Given the description of an element on the screen output the (x, y) to click on. 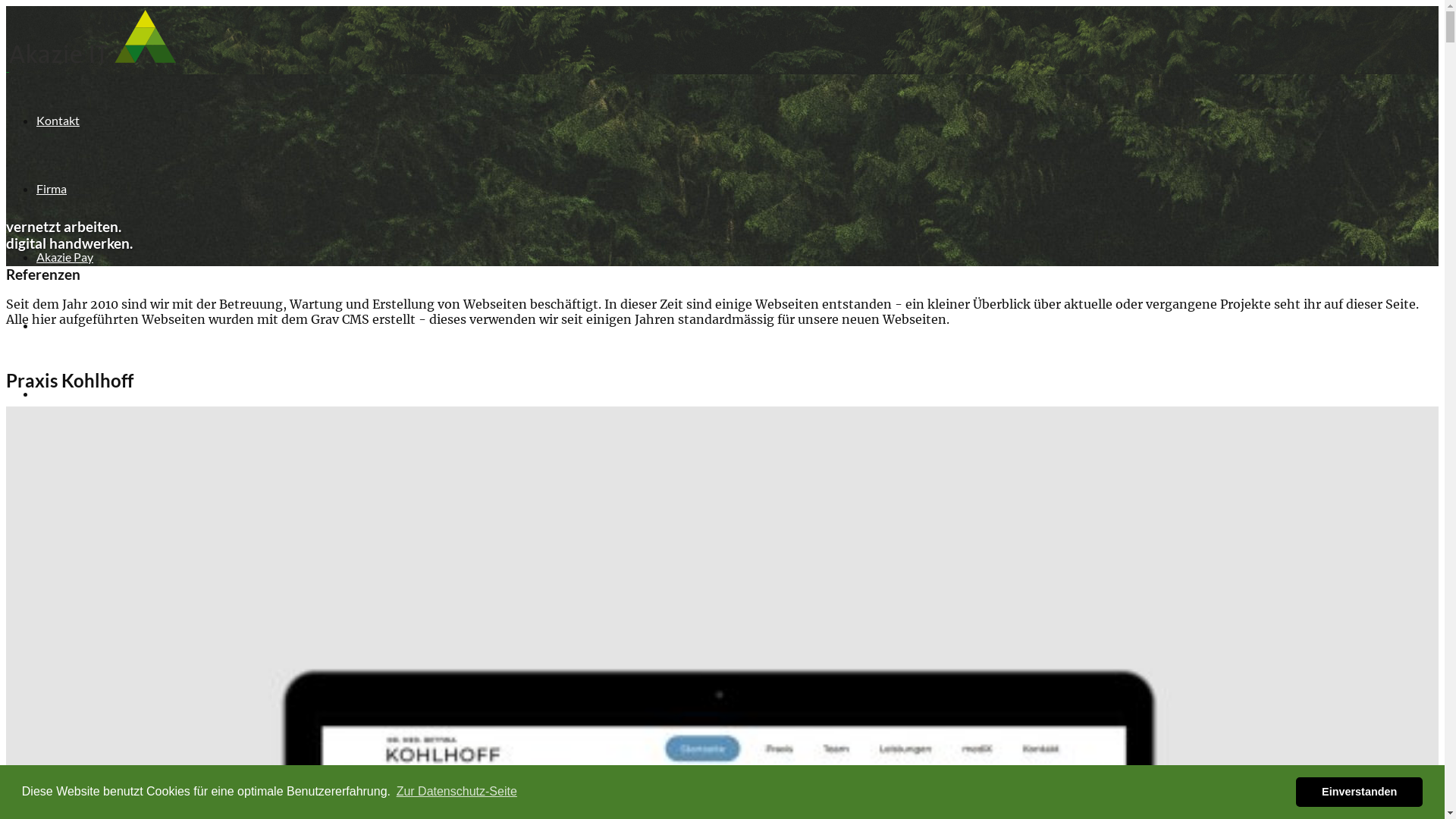
Akazie Pay Element type: text (64, 255)
Kontakt Element type: text (57, 119)
Webseiten Element type: text (64, 540)
Konfiguration Element type: text (72, 472)
Einverstanden Element type: text (1358, 791)
Akazie Pay Element type: text (64, 609)
Firma Element type: text (51, 187)
Zur Datenschutz-Seite Element type: text (456, 791)
Firma Element type: text (51, 677)
Konfiguration Element type: text (72, 392)
Kontakt Element type: text (57, 745)
Webseiten Element type: text (64, 323)
